Given the description of an element on the screen output the (x, y) to click on. 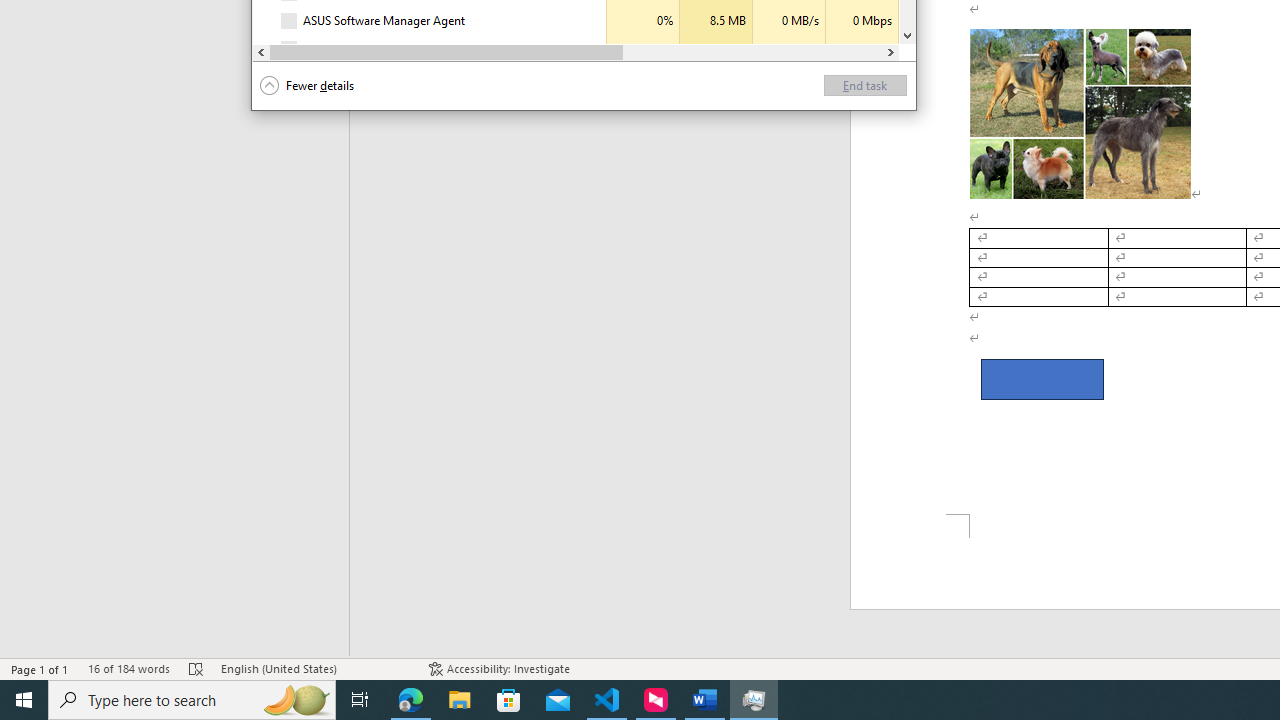
Microsoft Edge - 1 running window (411, 699)
End task (865, 85)
Page right (752, 52)
Task View (359, 699)
File Explorer (460, 699)
Microsoft Store (509, 699)
Fewer details (307, 86)
Visual Studio Code - 1 running window (607, 699)
Word - 1 running window (704, 699)
Type here to search (191, 699)
Network (861, 49)
